Given the description of an element on the screen output the (x, y) to click on. 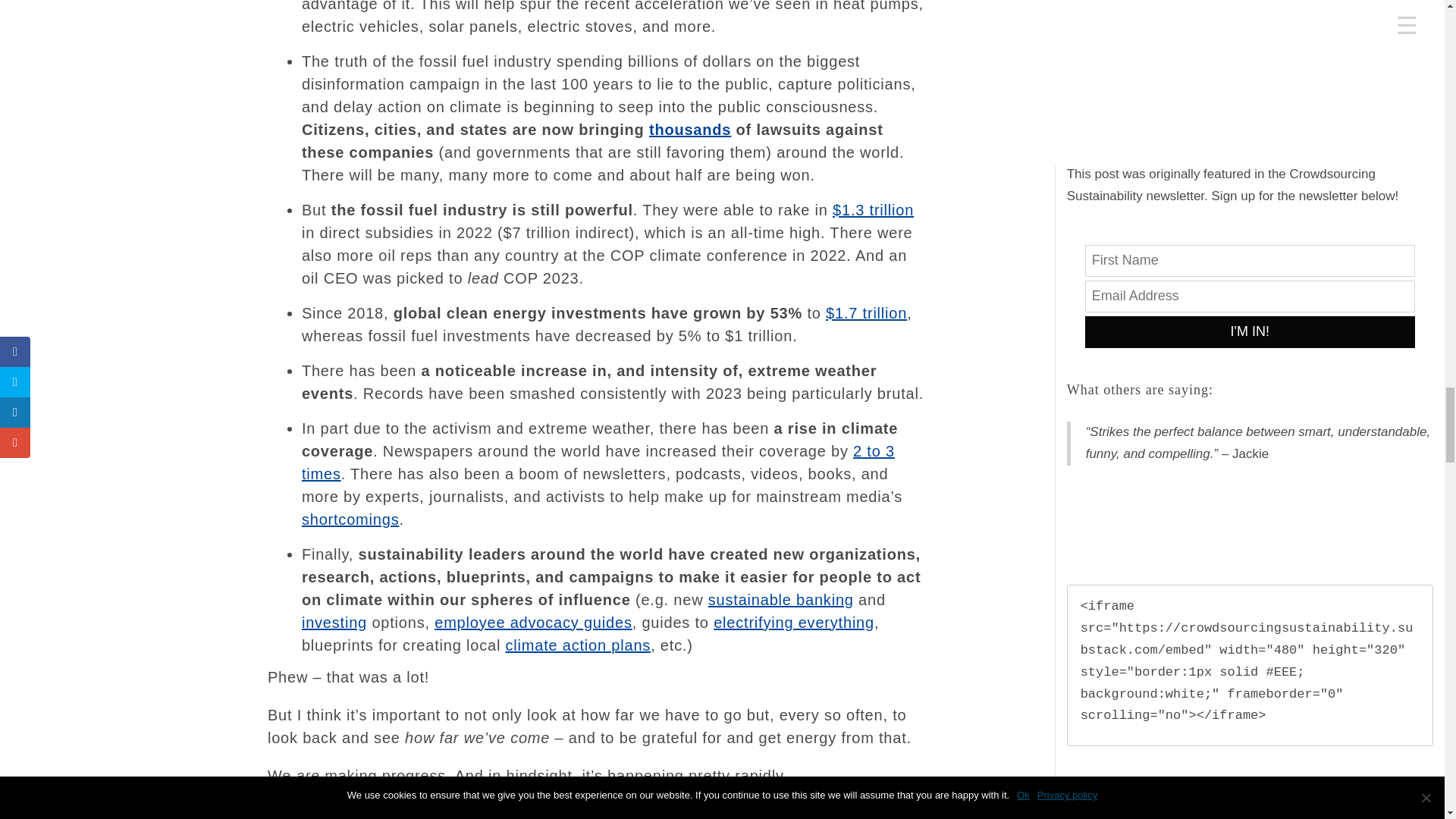
electrifying everything (794, 622)
shortcomings (349, 519)
thousands (689, 129)
investing (333, 622)
employee advocacy guides (532, 622)
climate action plans (577, 645)
sustainable banking (780, 599)
2 to 3 times (598, 462)
